Given the description of an element on the screen output the (x, y) to click on. 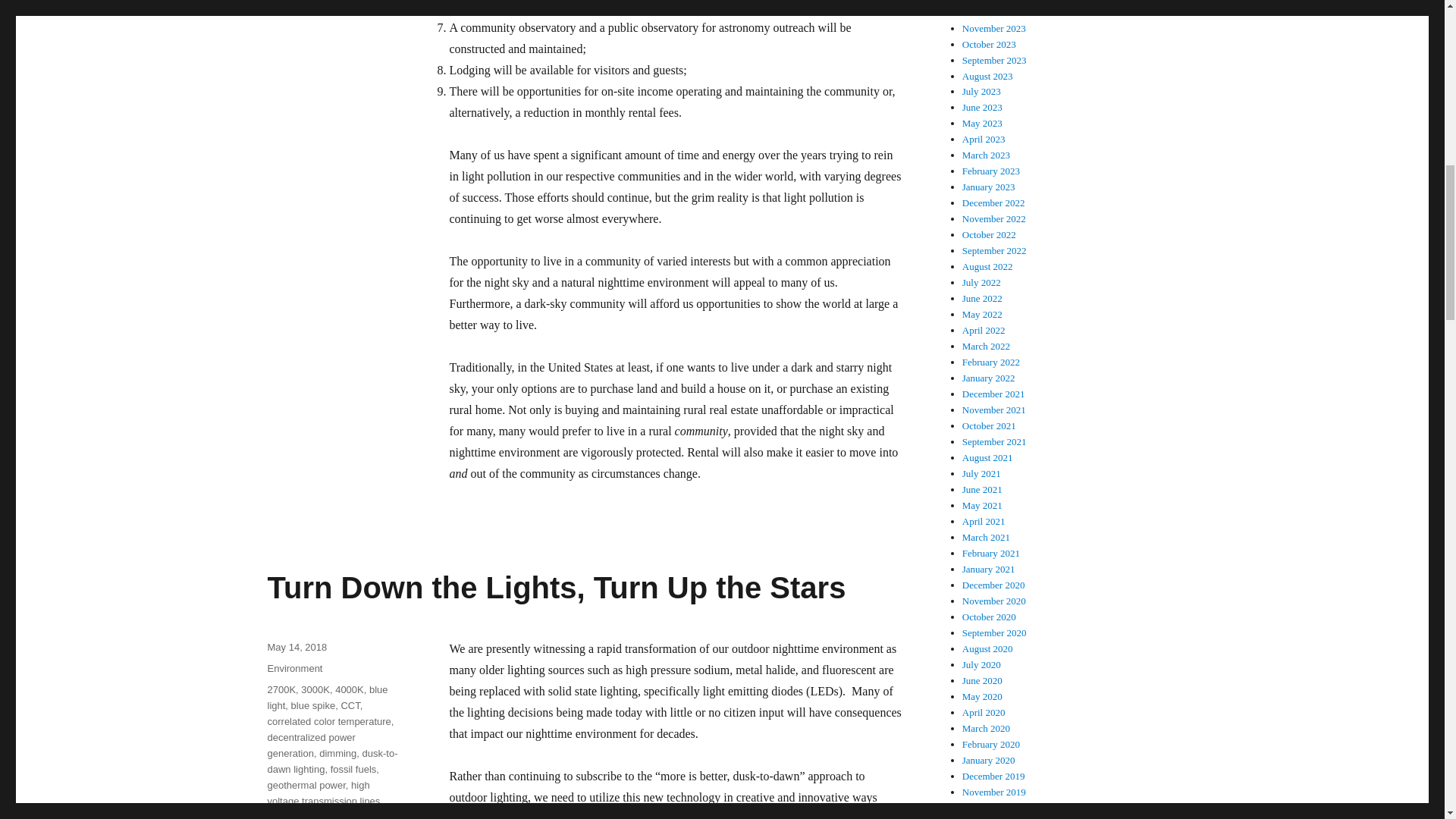
4000K (349, 689)
May 14, 2018 (296, 646)
CCT (349, 705)
Turn Down the Lights, Turn Up the Stars (555, 587)
Environment (293, 668)
3000K (315, 689)
correlated color temperature (328, 721)
2700K (280, 689)
blue spike (313, 705)
dusk-to-dawn lighting (331, 760)
blue light (326, 697)
dimming (337, 753)
decentralized power generation (310, 745)
